Given the description of an element on the screen output the (x, y) to click on. 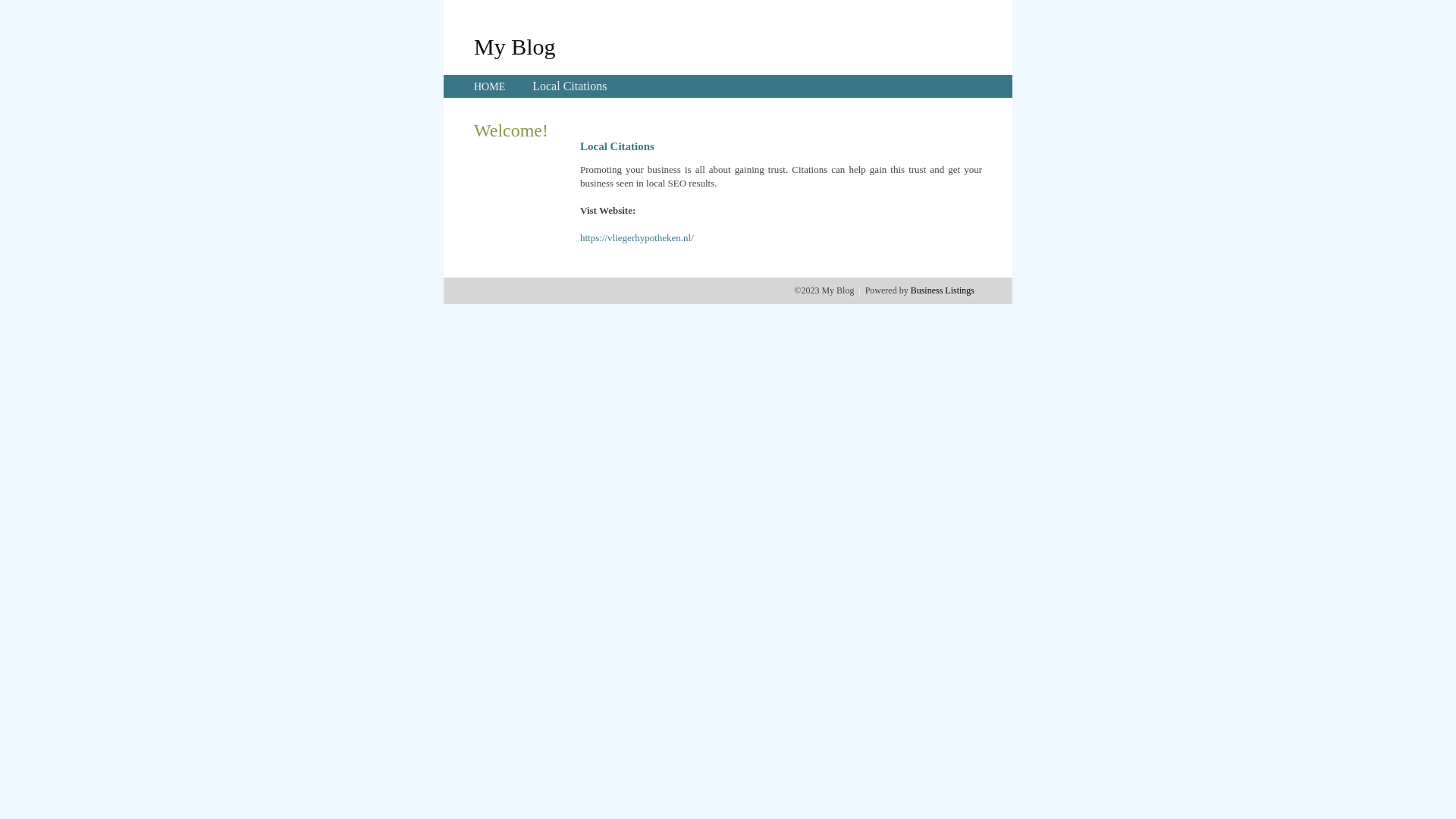
My Blog Element type: text (514, 46)
Local Citations Element type: text (569, 85)
https://vliegerhypotheken.nl/ Element type: text (636, 237)
Business Listings Element type: text (942, 290)
HOME Element type: text (489, 86)
